Given the description of an element on the screen output the (x, y) to click on. 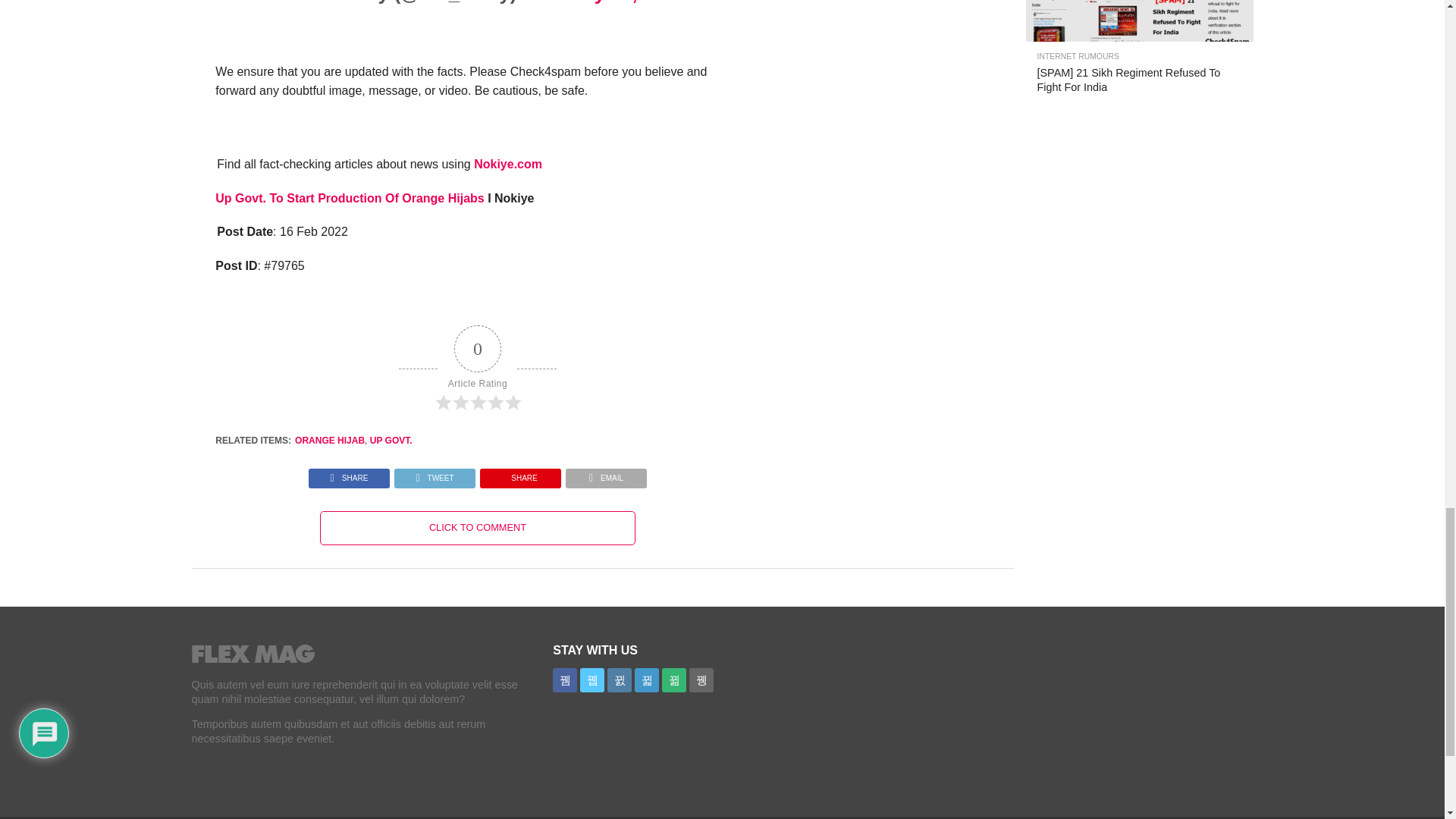
Tweet This Post (434, 473)
Pin This Post (520, 473)
Share on Facebook (349, 473)
